Given the description of an element on the screen output the (x, y) to click on. 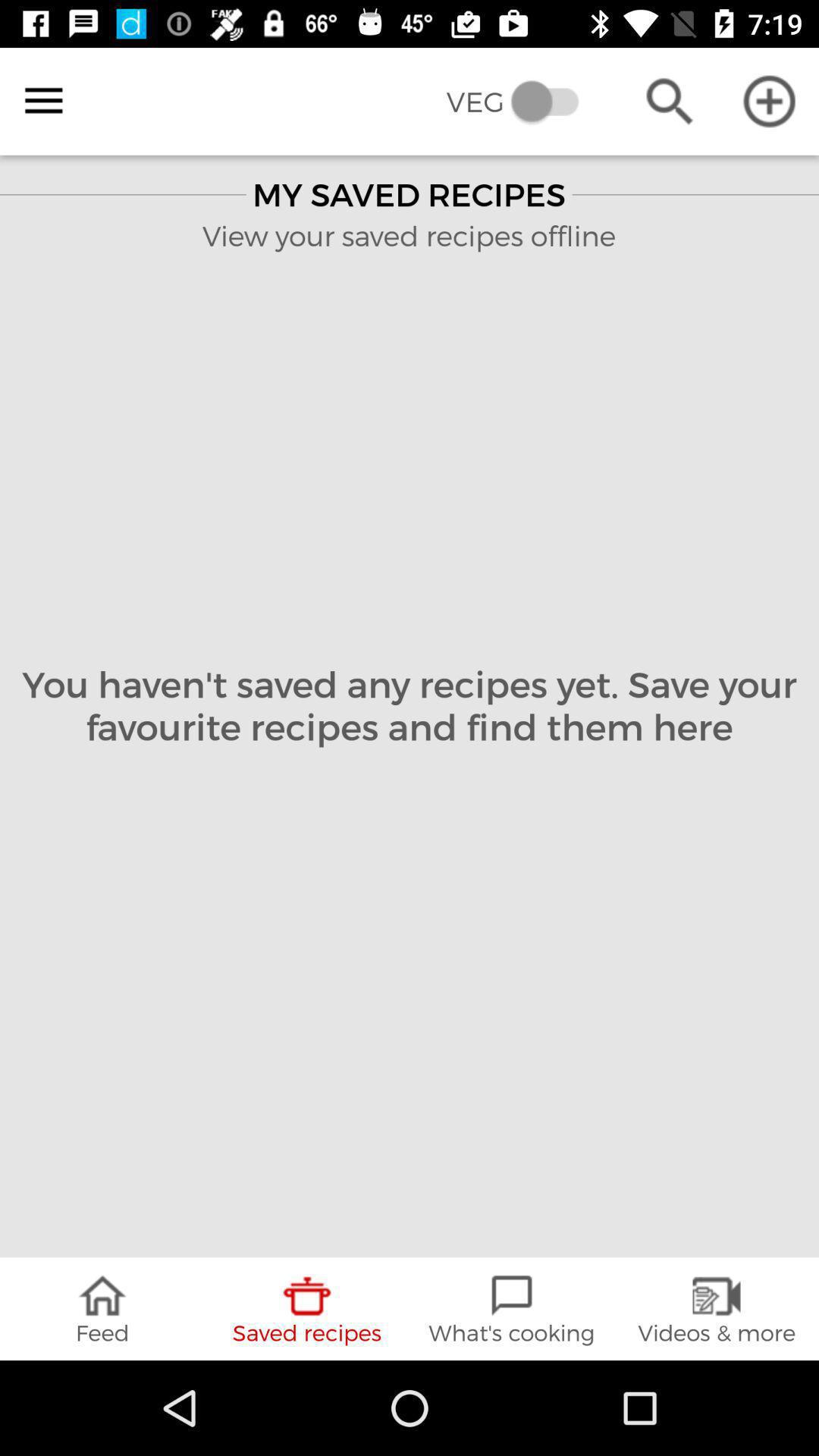
swipe until the veg item (522, 101)
